Given the description of an element on the screen output the (x, y) to click on. 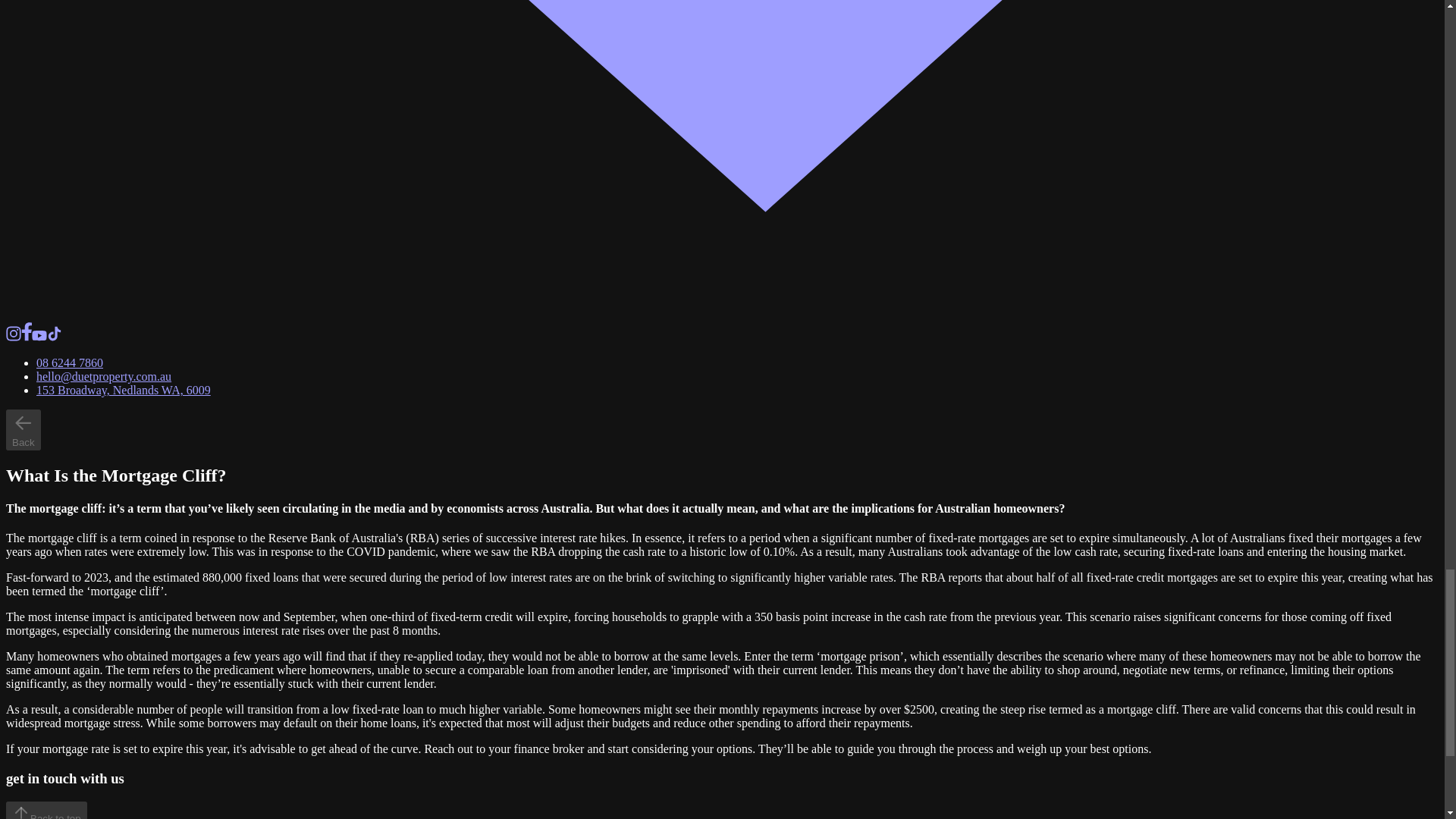
Back to top (46, 810)
08 6244 7860 (69, 362)
153 Broadway, Nedlands WA, 6009 (123, 390)
